Given the description of an element on the screen output the (x, y) to click on. 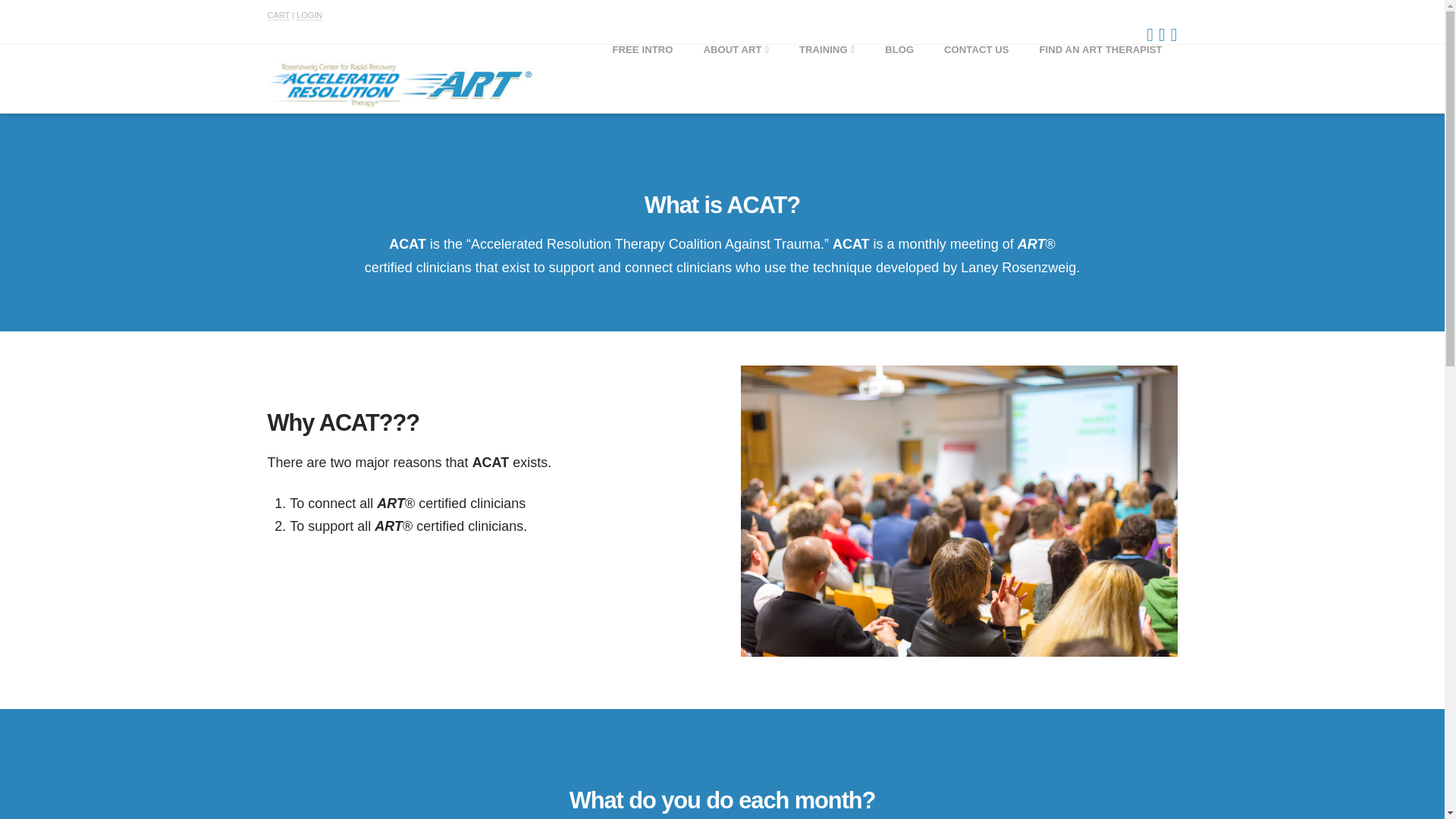
CART (277, 15)
CART (277, 15)
LOGIN (309, 15)
FREE INTRO (641, 79)
LOGIN (309, 15)
TRAINING (826, 79)
ABOUT ART (735, 79)
